Given the description of an element on the screen output the (x, y) to click on. 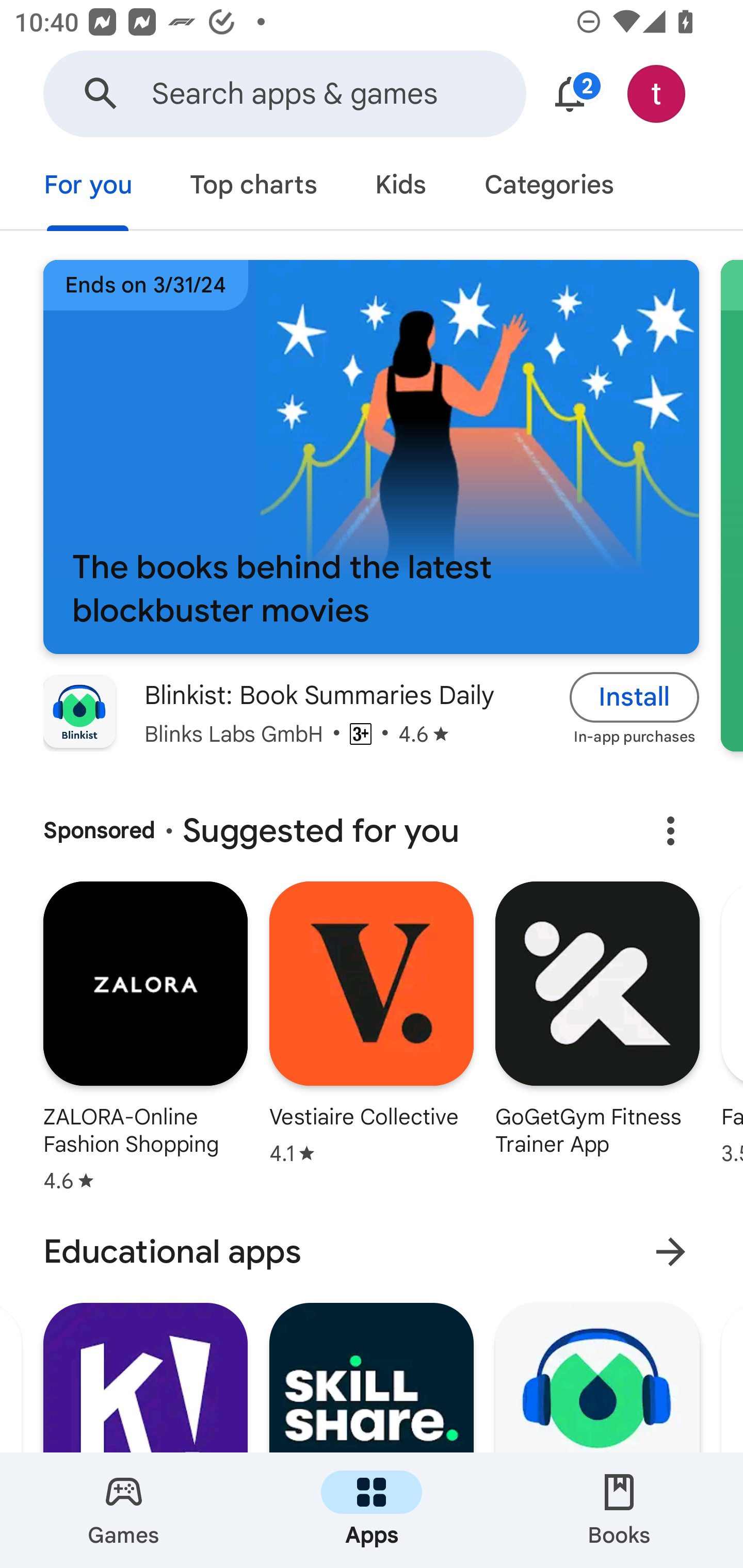
Search Google Play Search apps & games (284, 93)
Search Google Play (100, 93)
Top charts (253, 187)
Kids (400, 187)
Categories (548, 187)
Install (634, 696)
About this ad (670, 830)
ZALORA-Online Fashion Shopping
Star rating: 4.6
 (145, 1041)
Vestiaire Collective
Star rating: 4.1
 (371, 1041)
GoGetGym Fitness Trainer App
 (597, 1041)
Educational apps More results for Educational apps (371, 1252)
More results for Educational apps (670, 1251)
Games (123, 1509)
Books (619, 1509)
